Given the description of an element on the screen output the (x, y) to click on. 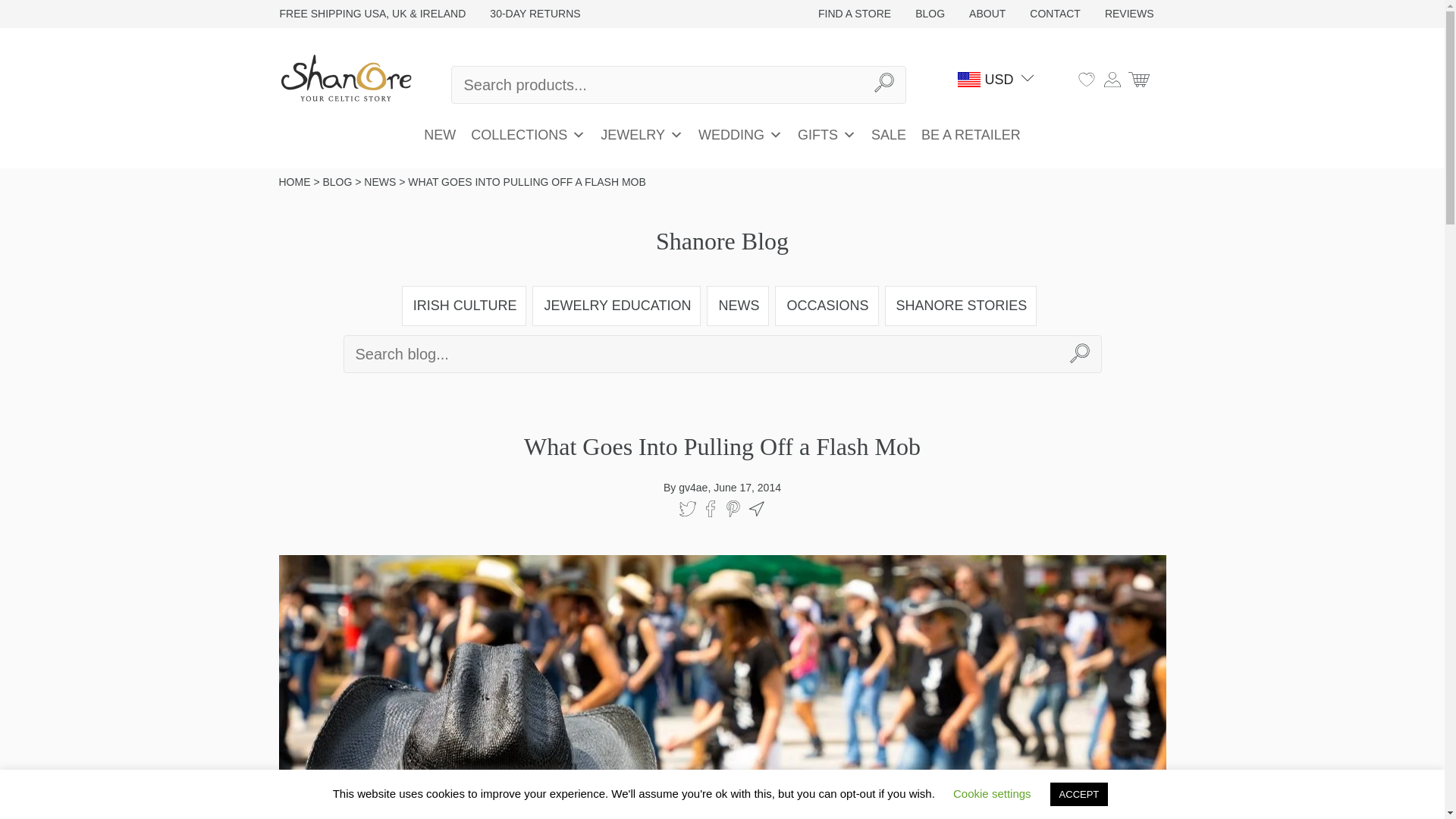
REVIEWS (1129, 13)
BLOG (929, 13)
My Wishlist (1086, 79)
Jewelry Education (616, 305)
ABOUT (986, 13)
Occasions (826, 305)
CONTACT (1055, 13)
Irish Culture (464, 305)
NEW (439, 134)
FIND A STORE (854, 13)
